Given the description of an element on the screen output the (x, y) to click on. 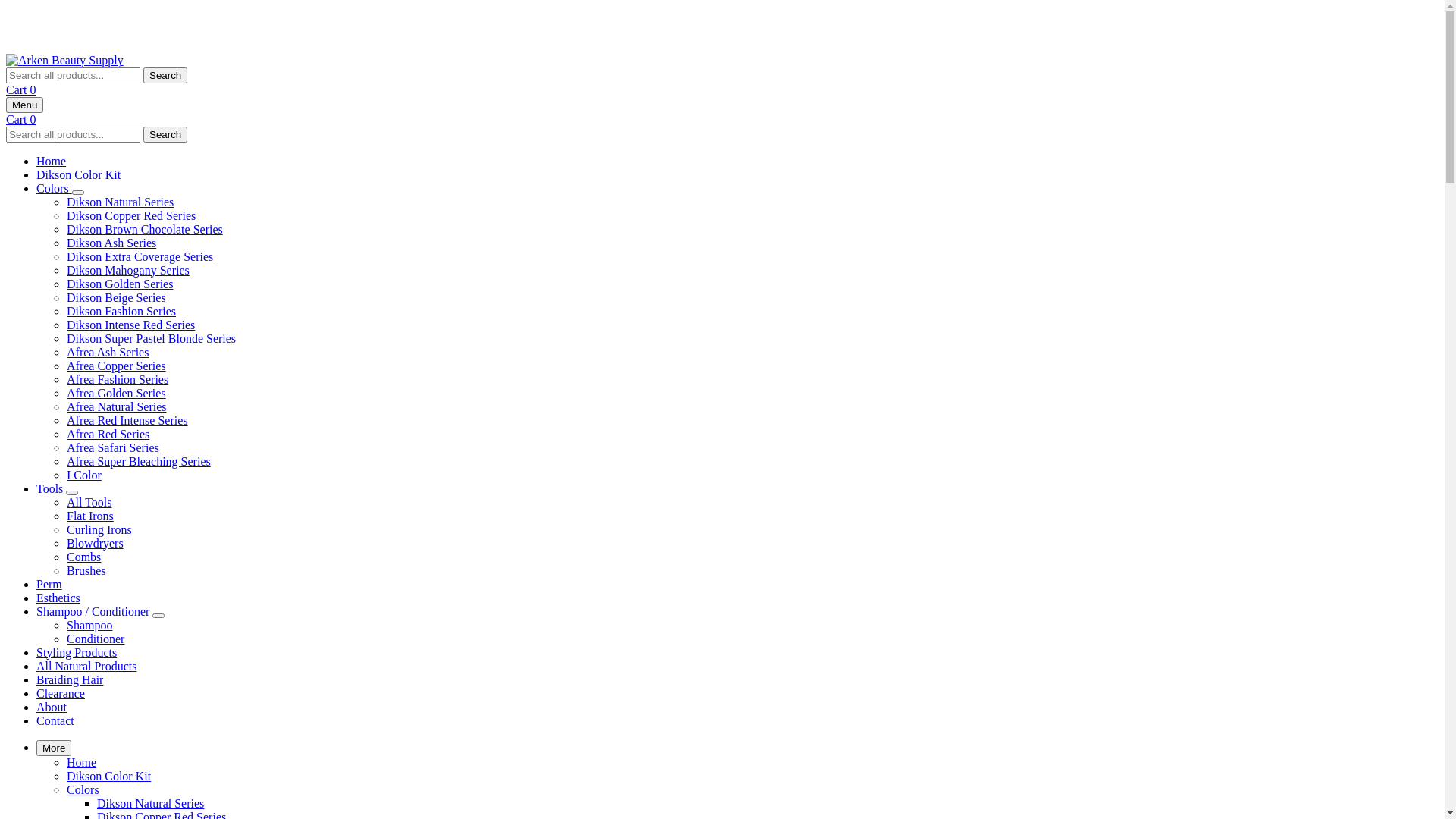
All Tools Element type: text (88, 501)
Colors Element type: text (82, 788)
Afrea Red Series Element type: text (107, 433)
Styling Products Element type: text (76, 652)
Dikson Beige Series Element type: text (116, 297)
Dikson Brown Chocolate Series Element type: text (144, 228)
Home Element type: text (81, 761)
About Element type: text (51, 706)
Dikson Ash Series Element type: text (111, 242)
All Natural Products Element type: text (86, 665)
Esthetics Element type: text (58, 597)
Afrea Copper Series Element type: text (116, 365)
Search Element type: text (165, 74)
Dikson Golden Series Element type: text (119, 283)
Menu Element type: text (24, 104)
Contact Element type: text (55, 720)
Tools Element type: text (50, 488)
Dikson Copper Red Series Element type: text (130, 215)
Afrea Golden Series Element type: text (116, 392)
Dikson Intense Red Series Element type: text (130, 324)
Shampoo Element type: text (89, 624)
Afrea Ash Series Element type: text (107, 351)
Cart 0 Element type: text (21, 118)
Braiding Hair Element type: text (69, 679)
I Color Element type: text (83, 474)
More Element type: text (53, 748)
Dikson Extra Coverage Series Element type: text (139, 256)
Combs Element type: text (83, 556)
Curling Irons Element type: text (98, 529)
Blowdryers Element type: text (94, 542)
Search Element type: text (165, 133)
Conditioner Element type: text (95, 638)
Shampoo / Conditioner Element type: text (94, 611)
Afrea Safari Series Element type: text (112, 447)
Dikson Super Pastel Blonde Series Element type: text (150, 338)
Dikson Fashion Series Element type: text (120, 310)
Perm Element type: text (49, 583)
Afrea Red Intense Series Element type: text (127, 420)
Dikson Natural Series Element type: text (119, 201)
Dikson Color Kit Element type: text (108, 774)
Afrea Super Bleaching Series Element type: text (138, 461)
Afrea Fashion Series Element type: text (117, 379)
Dikson Color Kit Element type: text (78, 174)
Home Element type: text (50, 160)
Clearance Element type: text (60, 693)
Dikson Natural Series Element type: text (150, 802)
Afrea Natural Series Element type: text (116, 406)
Brushes Element type: text (86, 570)
Cart 0 Element type: text (21, 89)
Colors Element type: text (54, 188)
Dikson Mahogany Series Element type: text (127, 269)
Flat Irons Element type: text (89, 515)
